Given the description of an element on the screen output the (x, y) to click on. 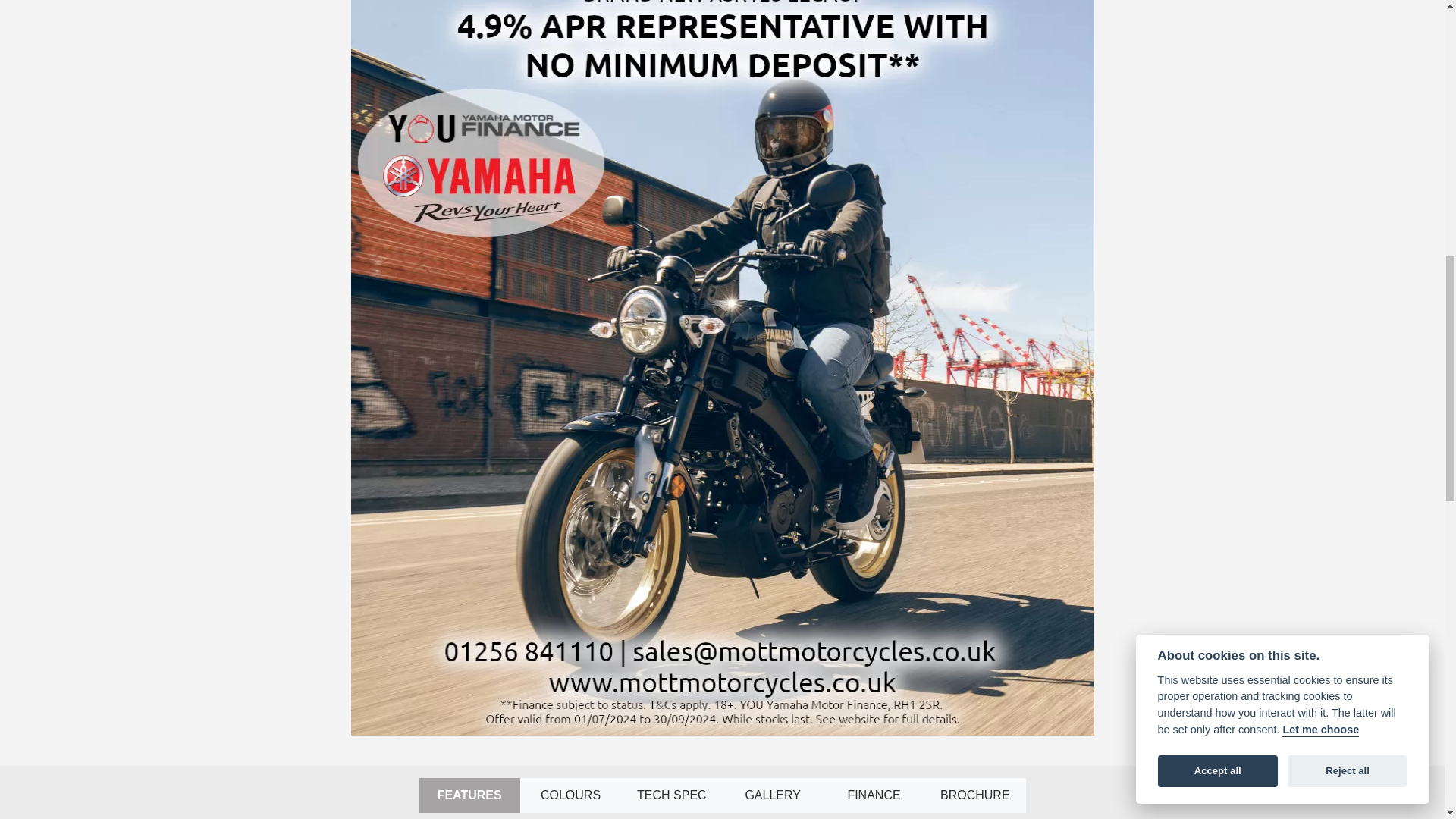
COLOURS (570, 795)
FEATURES (469, 795)
TECH SPEC (671, 795)
FINANCE (874, 795)
GALLERY (772, 795)
